Given the description of an element on the screen output the (x, y) to click on. 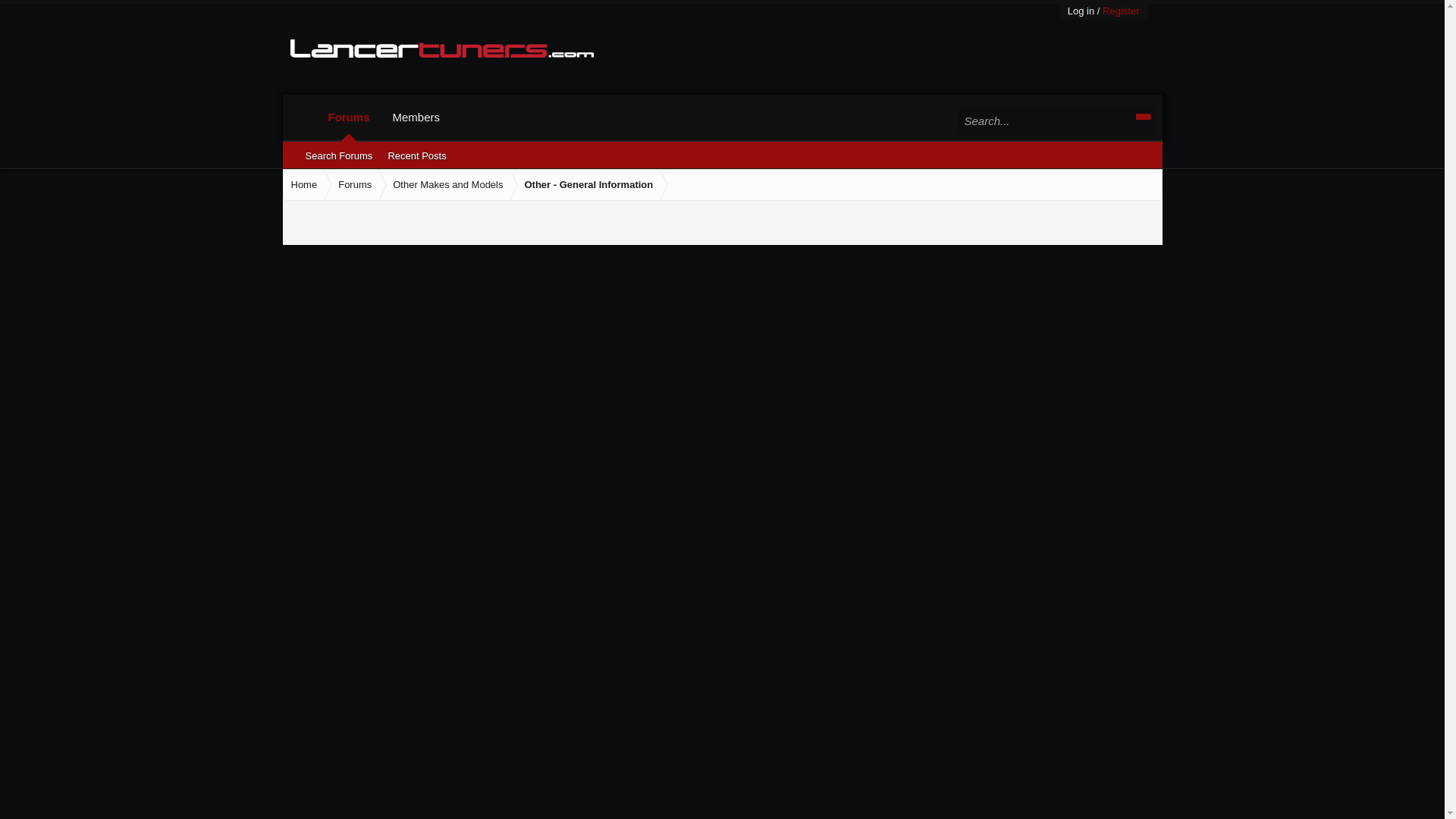
Forums (349, 117)
Search Forums (338, 155)
Members (416, 117)
Enter your search and hit enter (1055, 120)
Home (303, 184)
Recent Posts (416, 155)
Register (1120, 10)
Other - General Information (586, 184)
Forums (351, 184)
Other Makes and Models (444, 184)
